Given the description of an element on the screen output the (x, y) to click on. 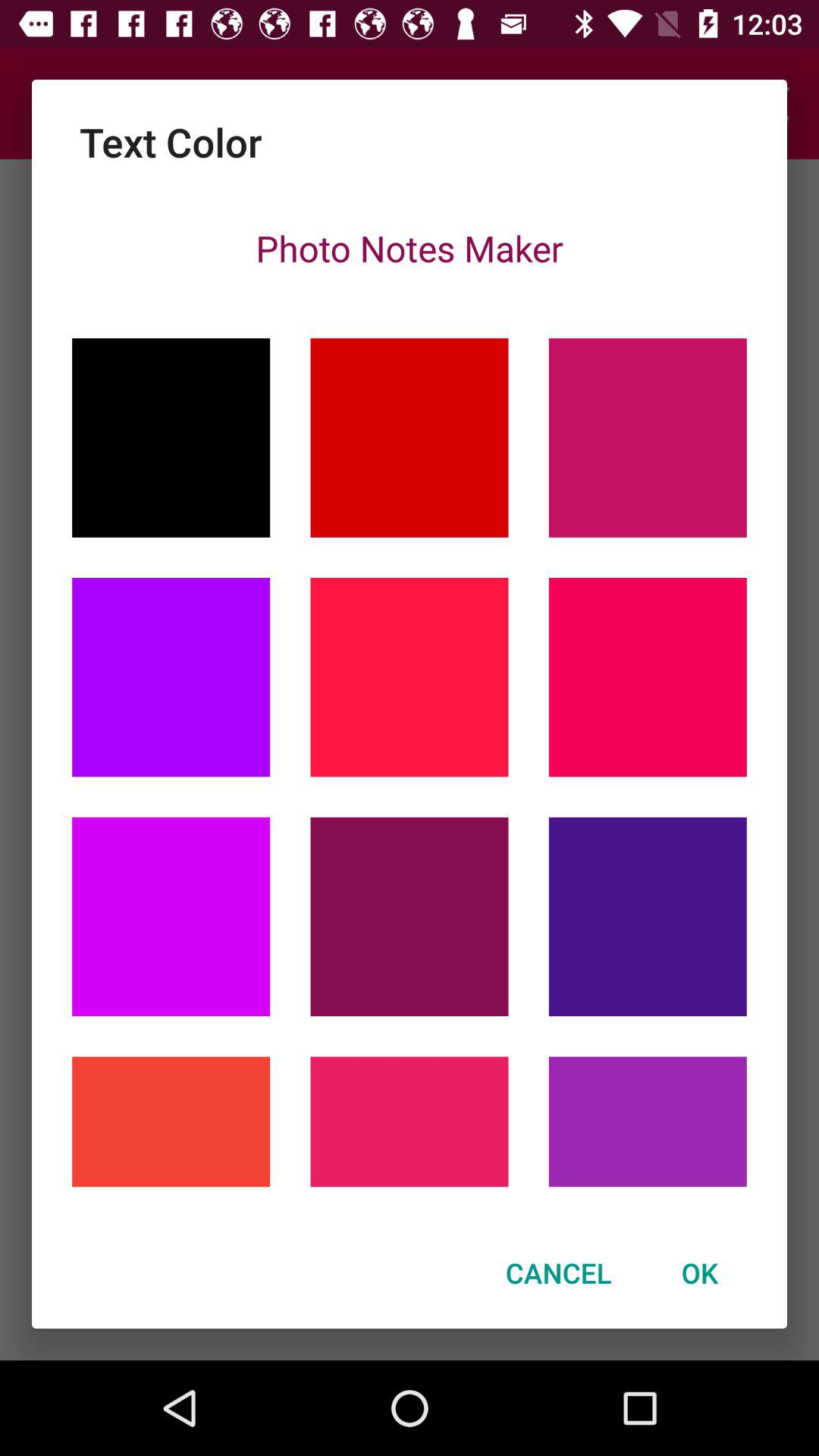
turn off the cancel (558, 1272)
